Given the description of an element on the screen output the (x, y) to click on. 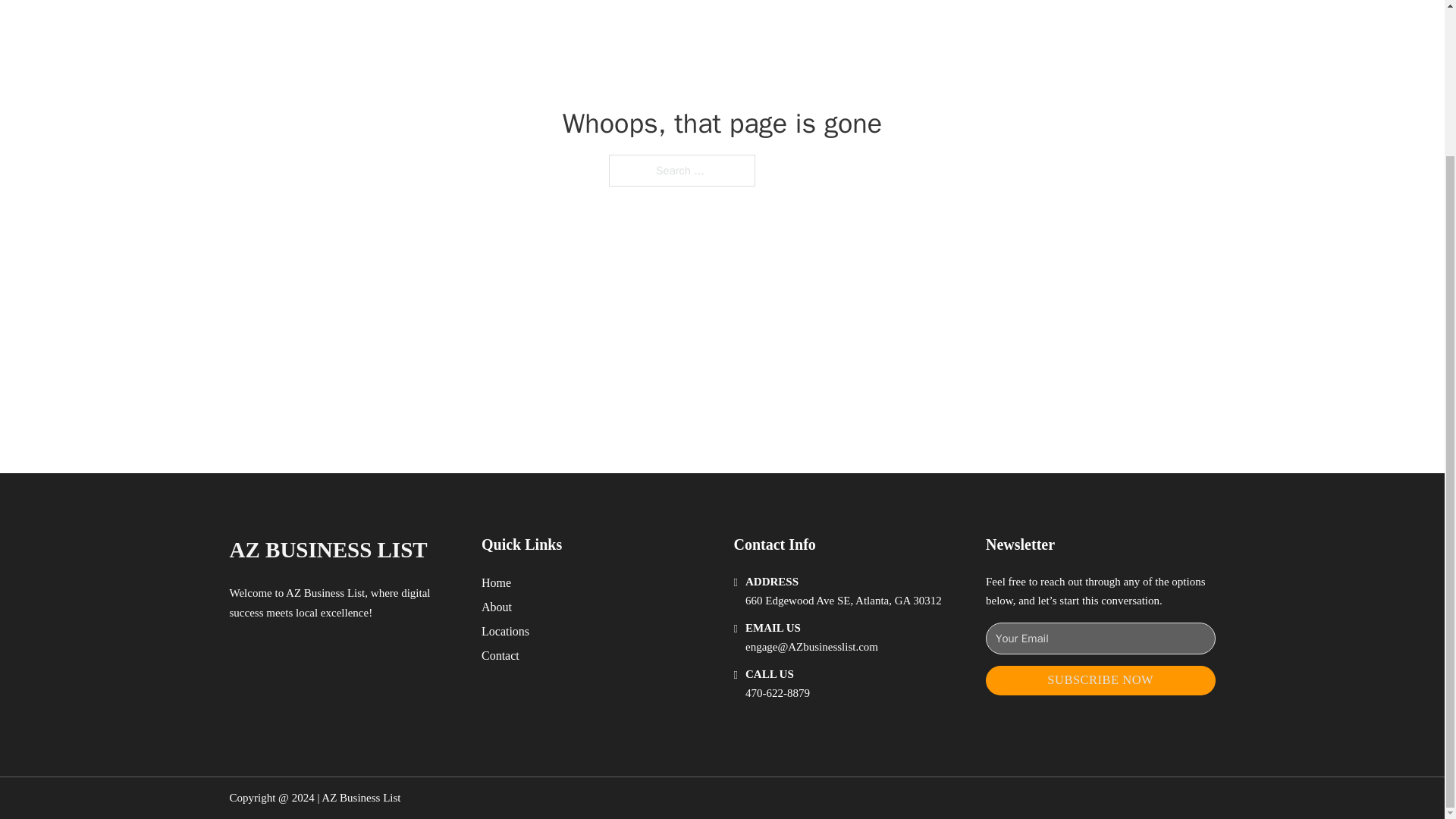
470-622-8879 (777, 693)
Locations (505, 630)
AZ BUSINESS LIST (327, 549)
Contact (500, 655)
About (496, 607)
Home (496, 582)
SUBSCRIBE NOW (1100, 680)
